Given the description of an element on the screen output the (x, y) to click on. 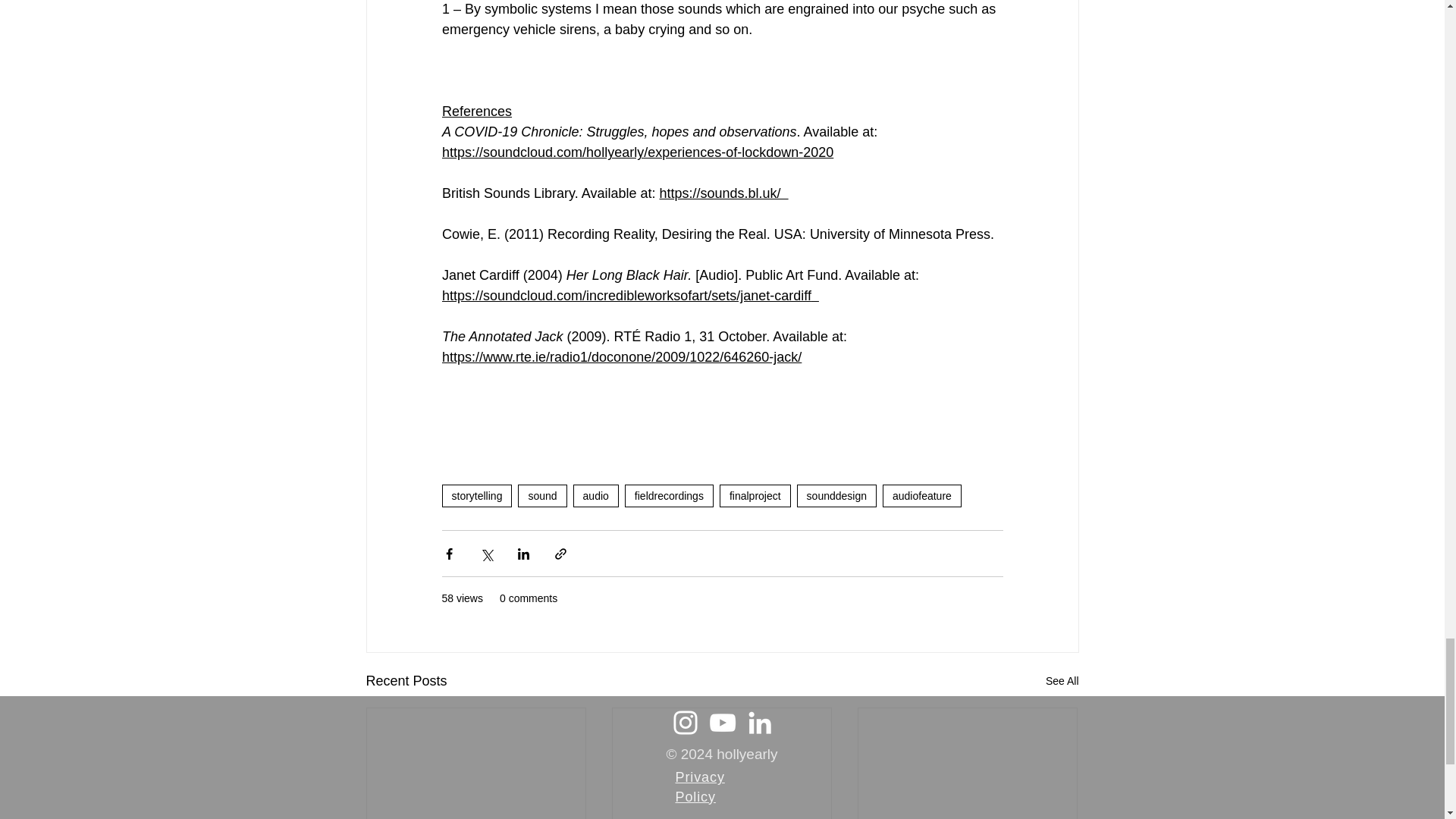
sound (542, 495)
fieldrecordings (668, 495)
sounddesign (836, 495)
audiofeature (921, 495)
finalproject (754, 495)
audio (595, 495)
storytelling (476, 495)
